Given the description of an element on the screen output the (x, y) to click on. 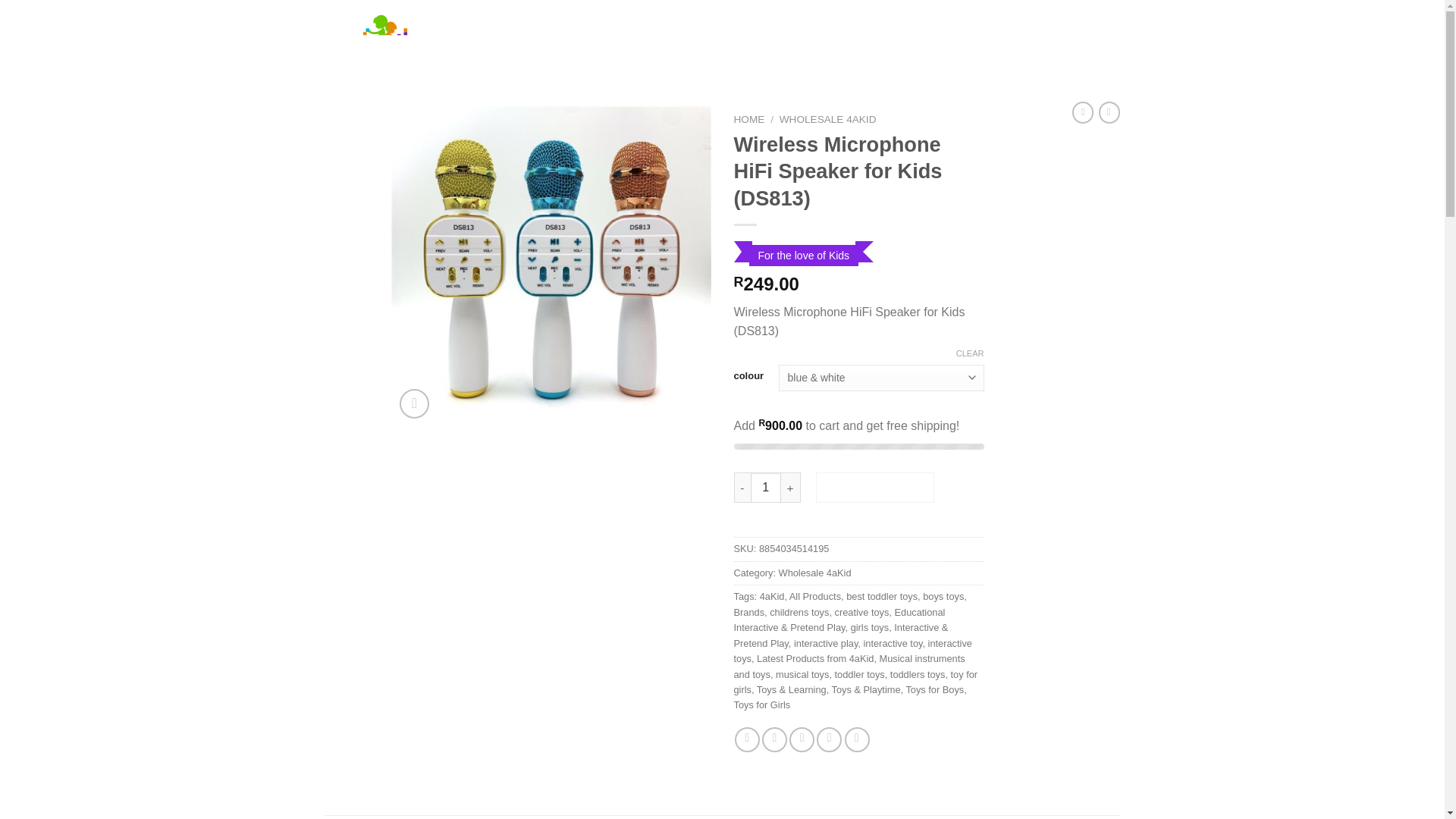
Share on Twitter (774, 739)
Share on LinkedIn (856, 739)
CONTACT (786, 27)
SHOP (680, 27)
ADD TO CART (874, 487)
LOGIN (963, 27)
FAQ (727, 27)
Simply Kidz - Happiness For your little one (439, 38)
CLEAR (970, 353)
Share on Facebook (747, 739)
